Given the description of an element on the screen output the (x, y) to click on. 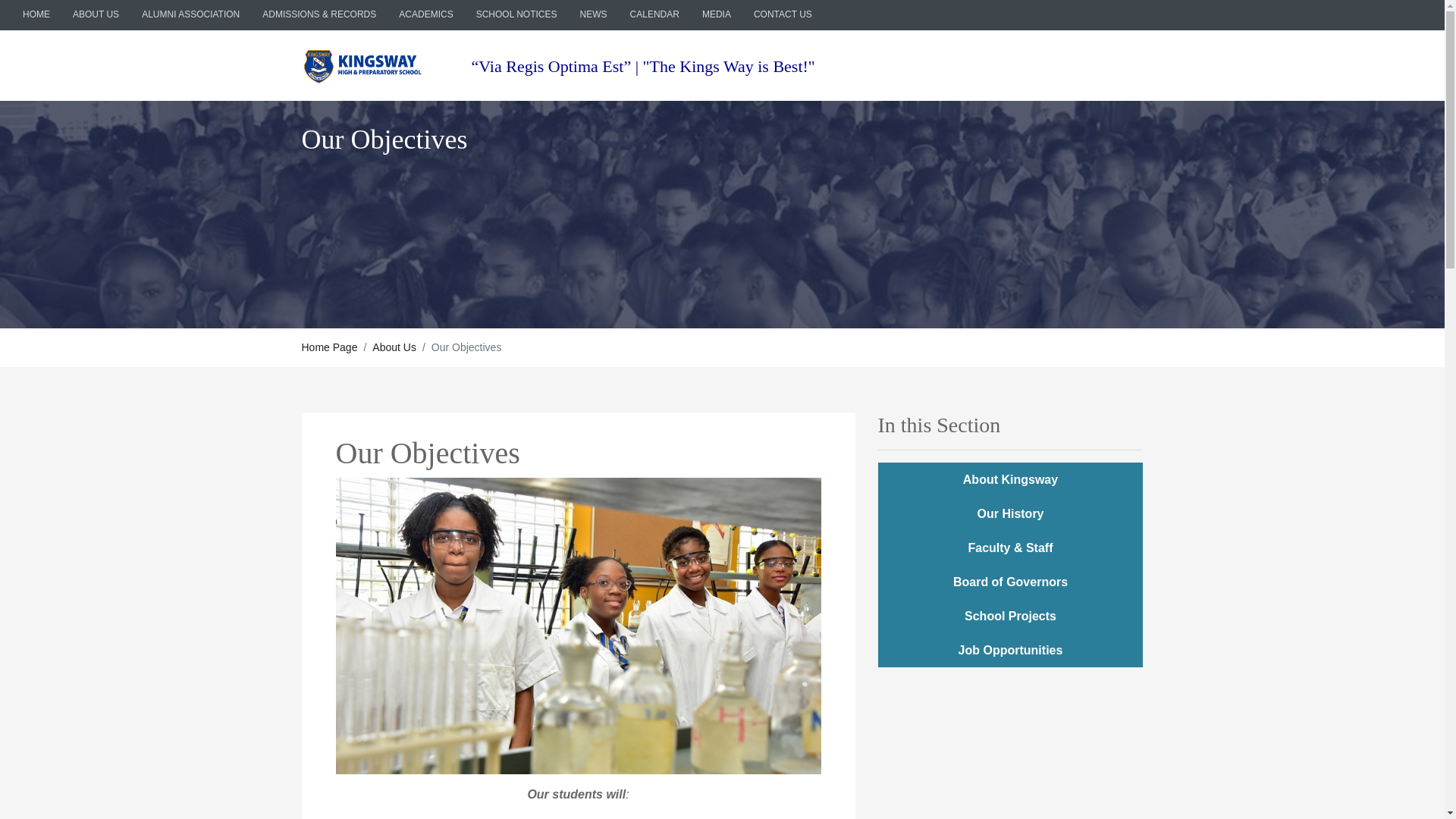
NEWS (593, 14)
CONTACT US (783, 14)
Home Page (329, 346)
ABOUT US (96, 14)
Job Opportunities (1009, 650)
HOME (36, 14)
About Us (394, 346)
CALENDAR (654, 14)
School Projects (1009, 615)
Board of Governors (1009, 581)
